Given the description of an element on the screen output the (x, y) to click on. 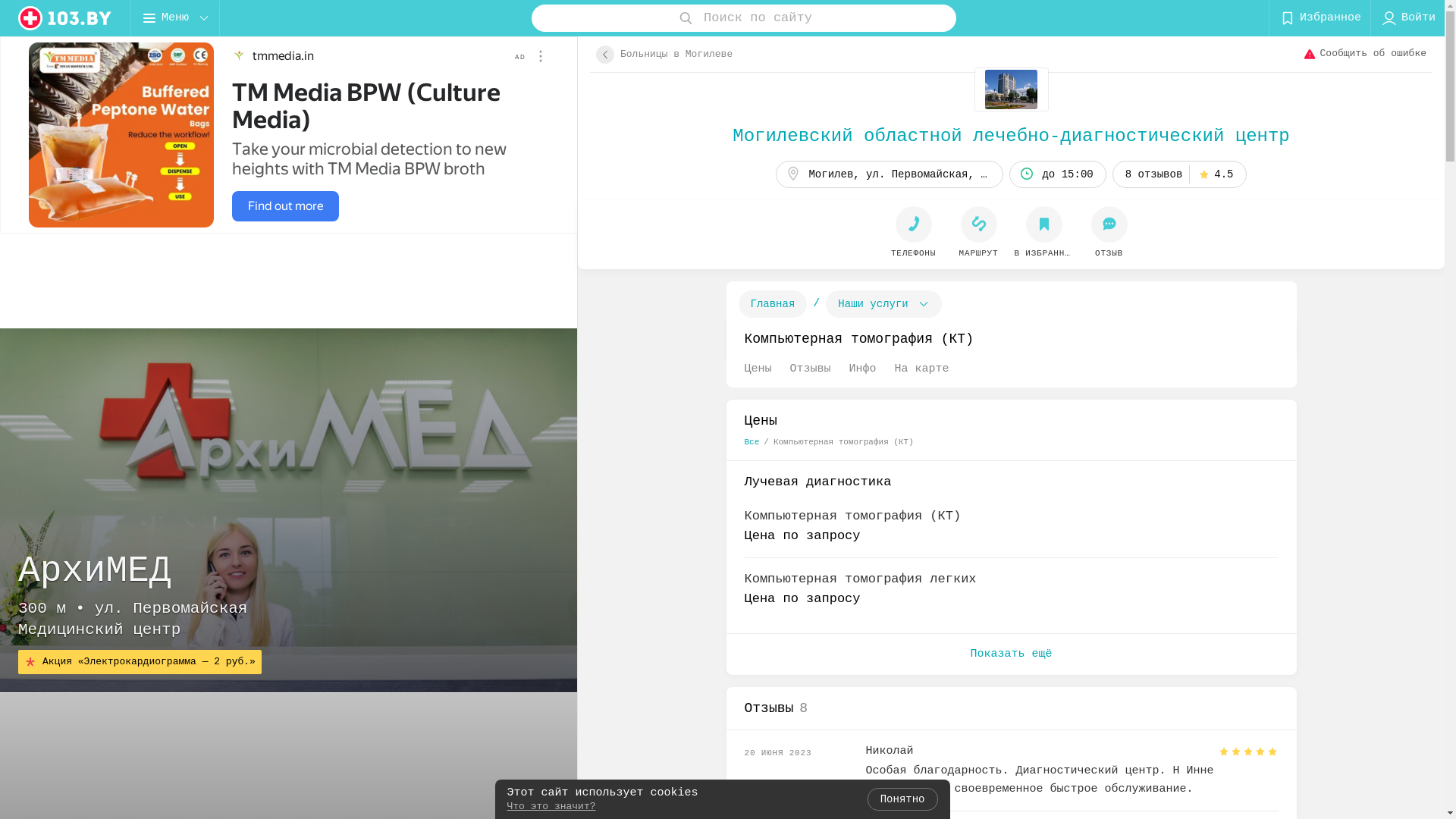
logo Element type: hover (65, 18)
